Given the description of an element on the screen output the (x, y) to click on. 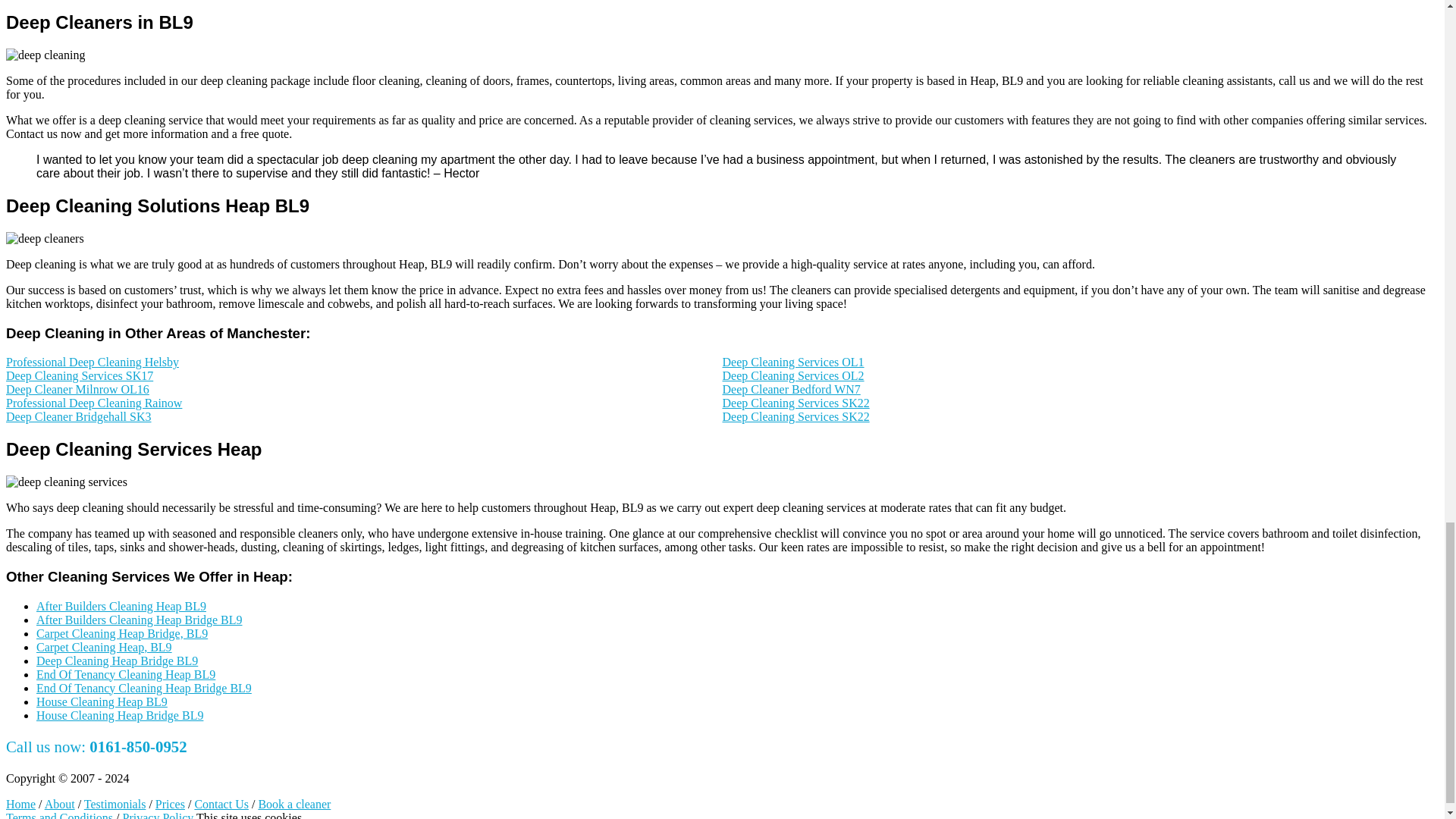
Professional Deep Cleaning Helsby (92, 361)
Deep Cleaner Milnrow OL16 (77, 389)
Deep Cleaner Milnrow OL16  (77, 389)
Deep Cleaning Services SK17  (78, 375)
Professional Deep Cleaning Rainow (93, 402)
After Builders Cleaning Heap BL9 (121, 604)
Deep Cleaning Services OL2 (792, 375)
Deep Cleaning Services SK17 (78, 375)
Professional Deep Cleaning Rainow (93, 402)
Deep Cleaning Services OL1  (792, 361)
